Given the description of an element on the screen output the (x, y) to click on. 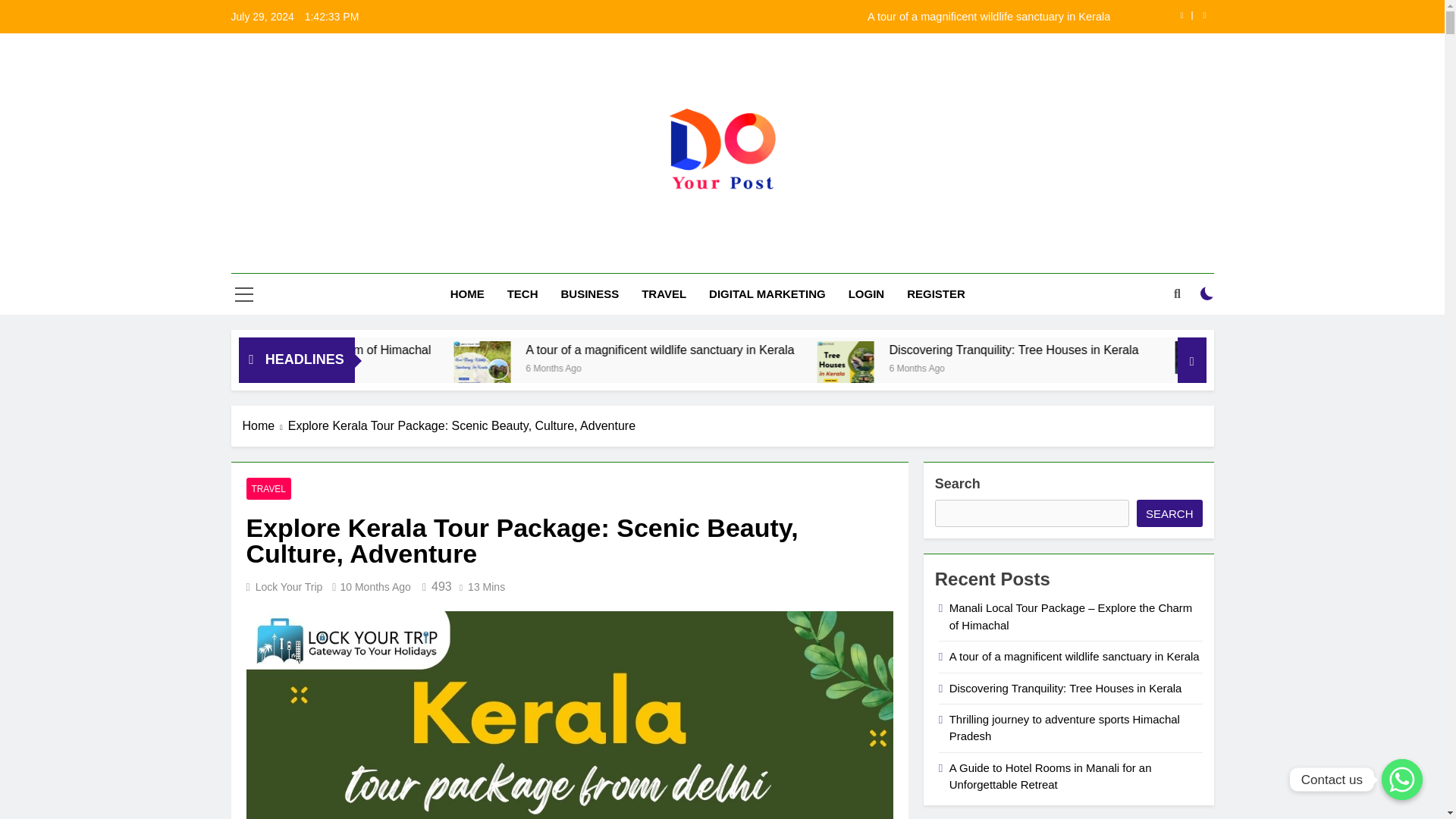
A tour of a magnificent wildlife sanctuary in Kerala (817, 16)
A tour of a magnificent wildlife sanctuary in Kerala (658, 369)
A tour of a magnificent wildlife sanctuary in Kerala (832, 350)
BUSINESS (589, 293)
6 Months Ago (1135, 367)
6 Months Ago (780, 367)
REGISTER (935, 293)
TECH (523, 293)
HOME (467, 293)
TRAVEL (663, 293)
Discovering Tranquility: Tree Houses in Kerala     (1241, 350)
A tour of a magnificent wildlife sanctuary in Kerala (889, 350)
A tour of a magnificent wildlife sanctuary in Kerala (661, 369)
Doyourpost (565, 259)
